Given the description of an element on the screen output the (x, y) to click on. 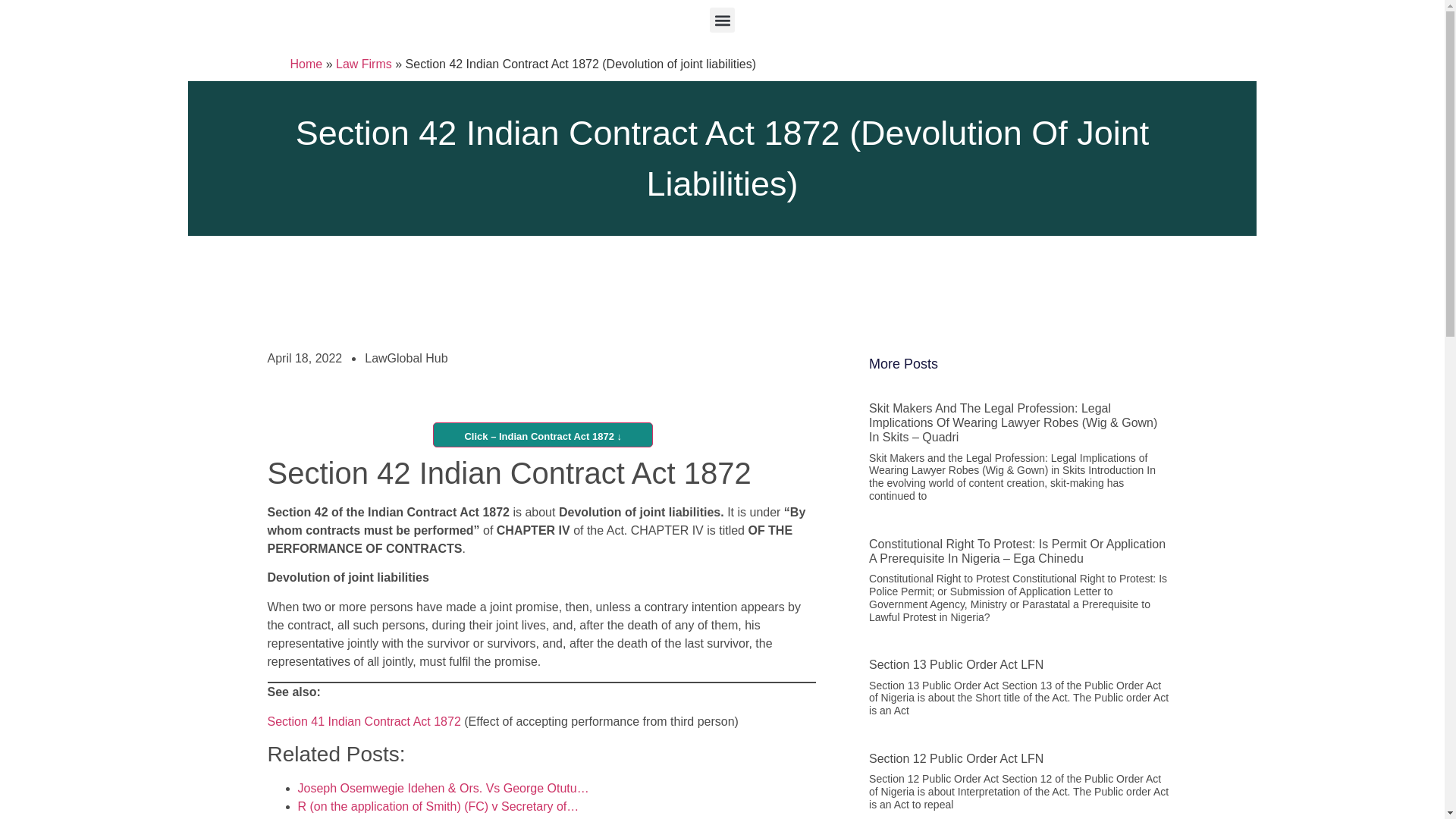
LawGlobal Hub (405, 358)
Law Firms (363, 63)
Home (305, 63)
April 18, 2022 (304, 358)
